Given the description of an element on the screen output the (x, y) to click on. 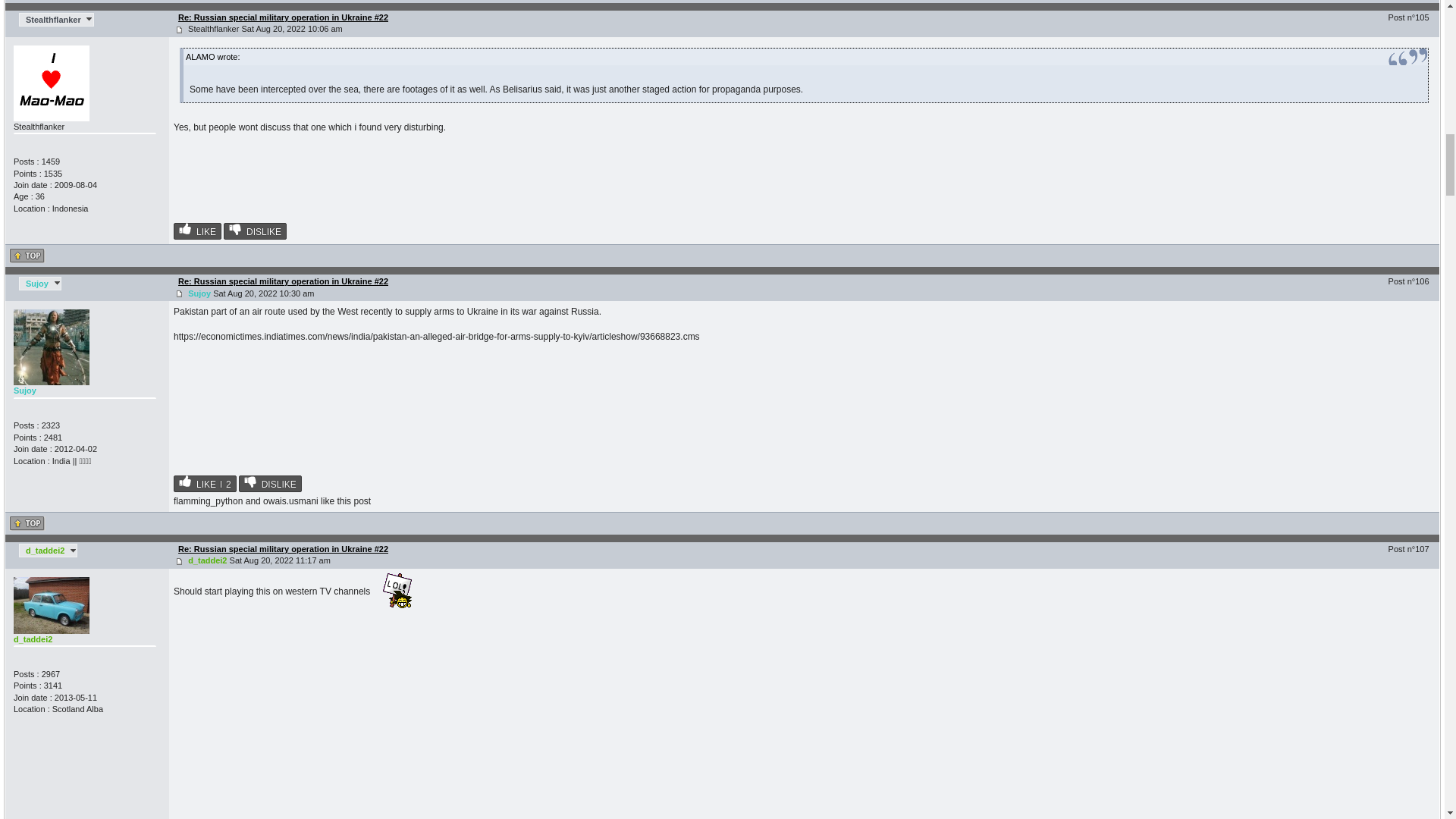
Post (178, 29)
Post (178, 293)
